Given the description of an element on the screen output the (x, y) to click on. 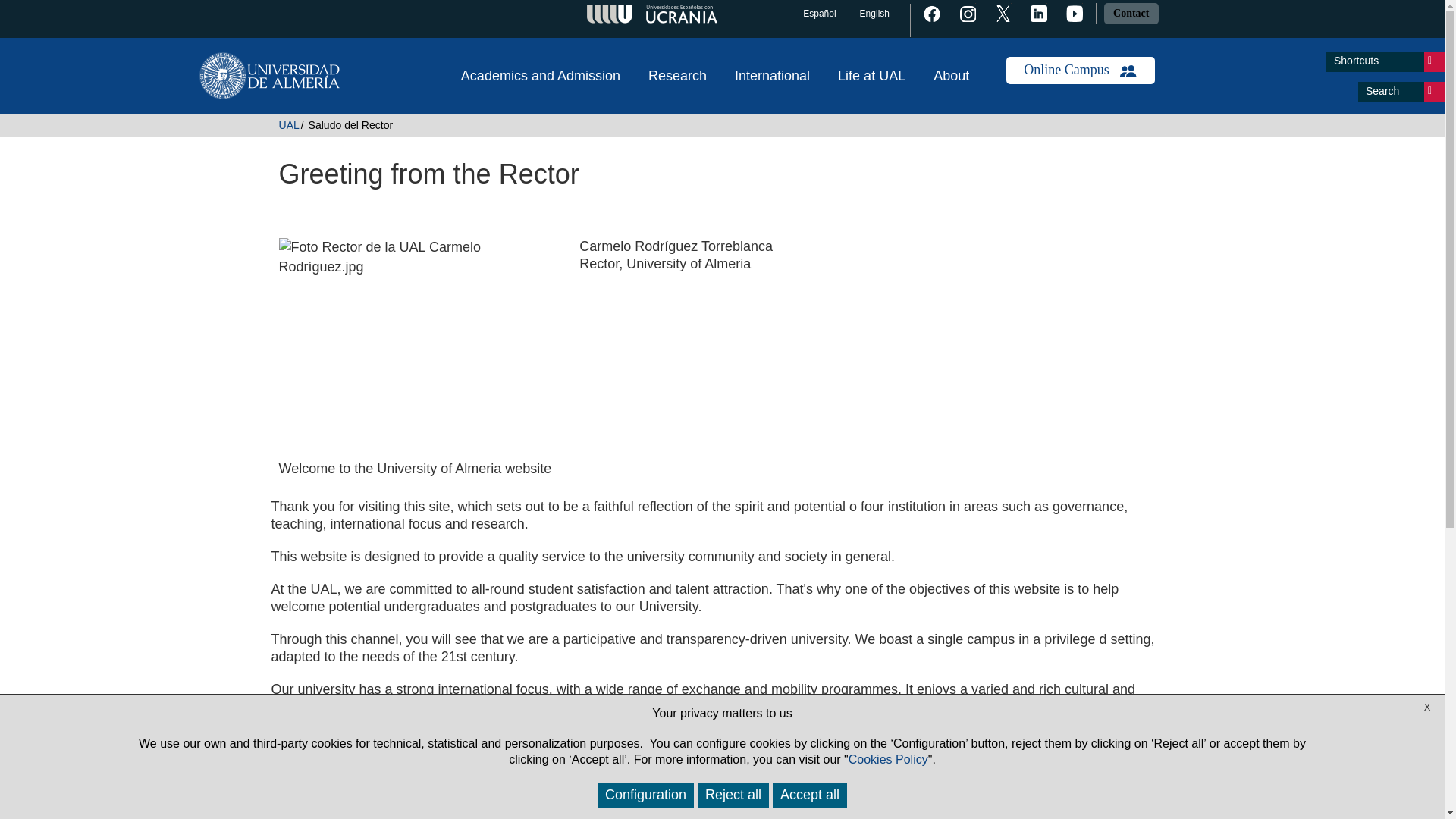
Academics and Admission (540, 76)
Acceder a Instagram (963, 12)
Acceder a Facebook (927, 12)
Pulsa para acceder a Youtube (1070, 12)
English (874, 13)
Pulsa para acceder a Instagram (963, 12)
Pulsa para acceder a Twitter (999, 12)
Contact (1130, 12)
Pulsa para acceder a Facebook (927, 12)
Acceder a LinkedIn (1034, 12)
Pulsa para acceder a LinkedIn (1034, 12)
Contact (1130, 13)
Acceder a Twitter (999, 12)
English (874, 13)
